Given the description of an element on the screen output the (x, y) to click on. 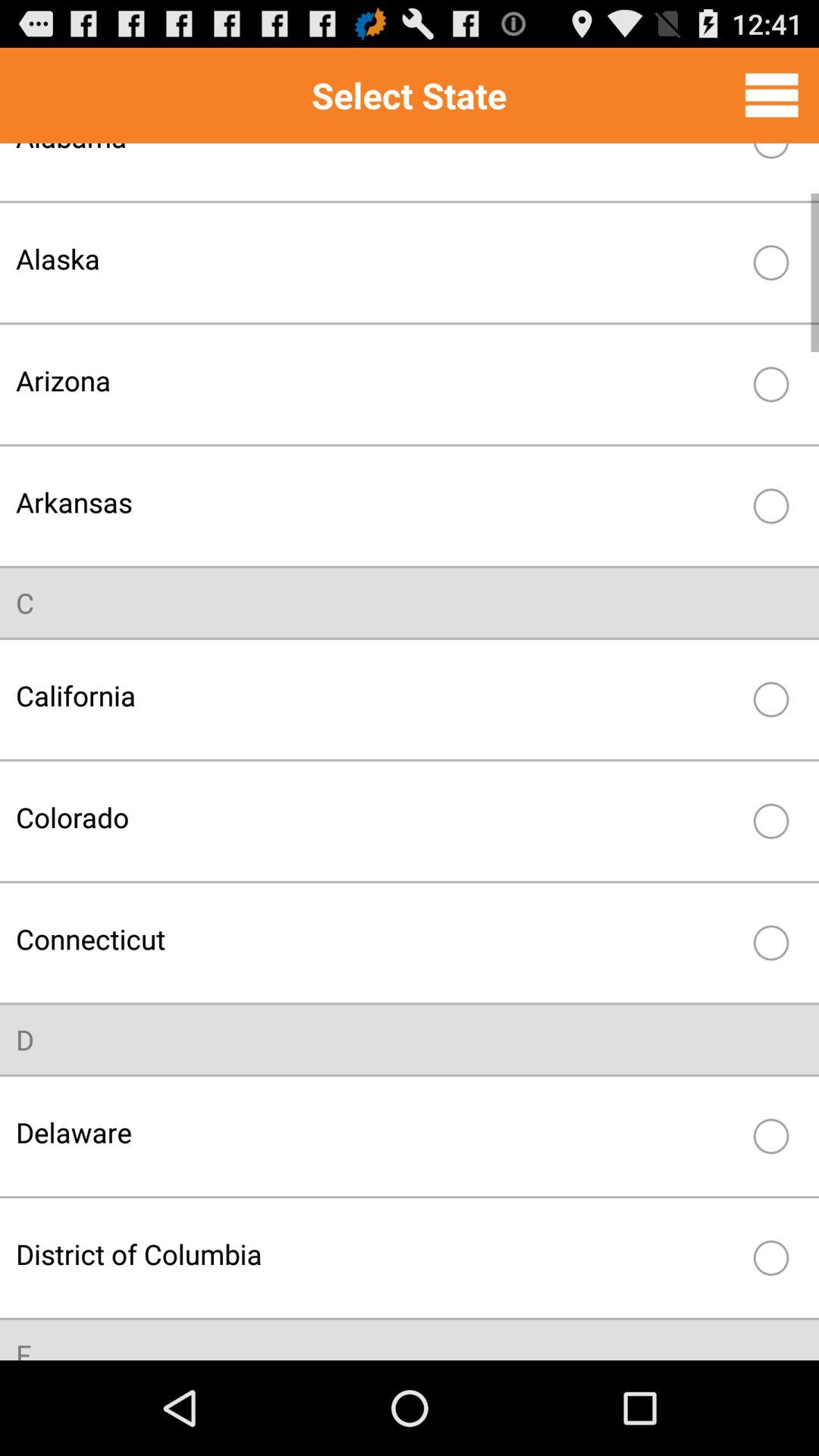
click item below d icon (377, 1132)
